Given the description of an element on the screen output the (x, y) to click on. 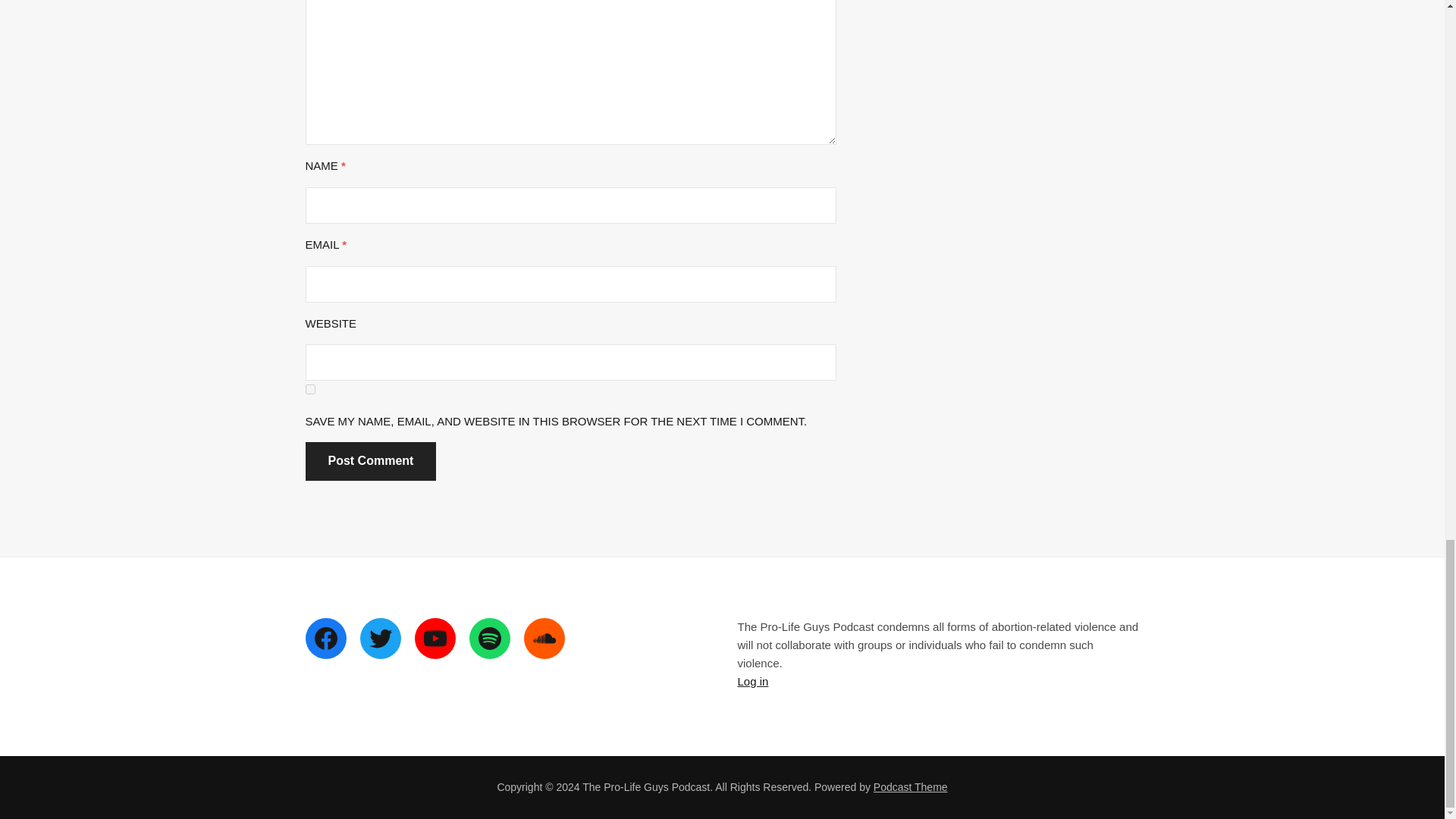
yes (309, 388)
Post Comment (369, 461)
